Given the description of an element on the screen output the (x, y) to click on. 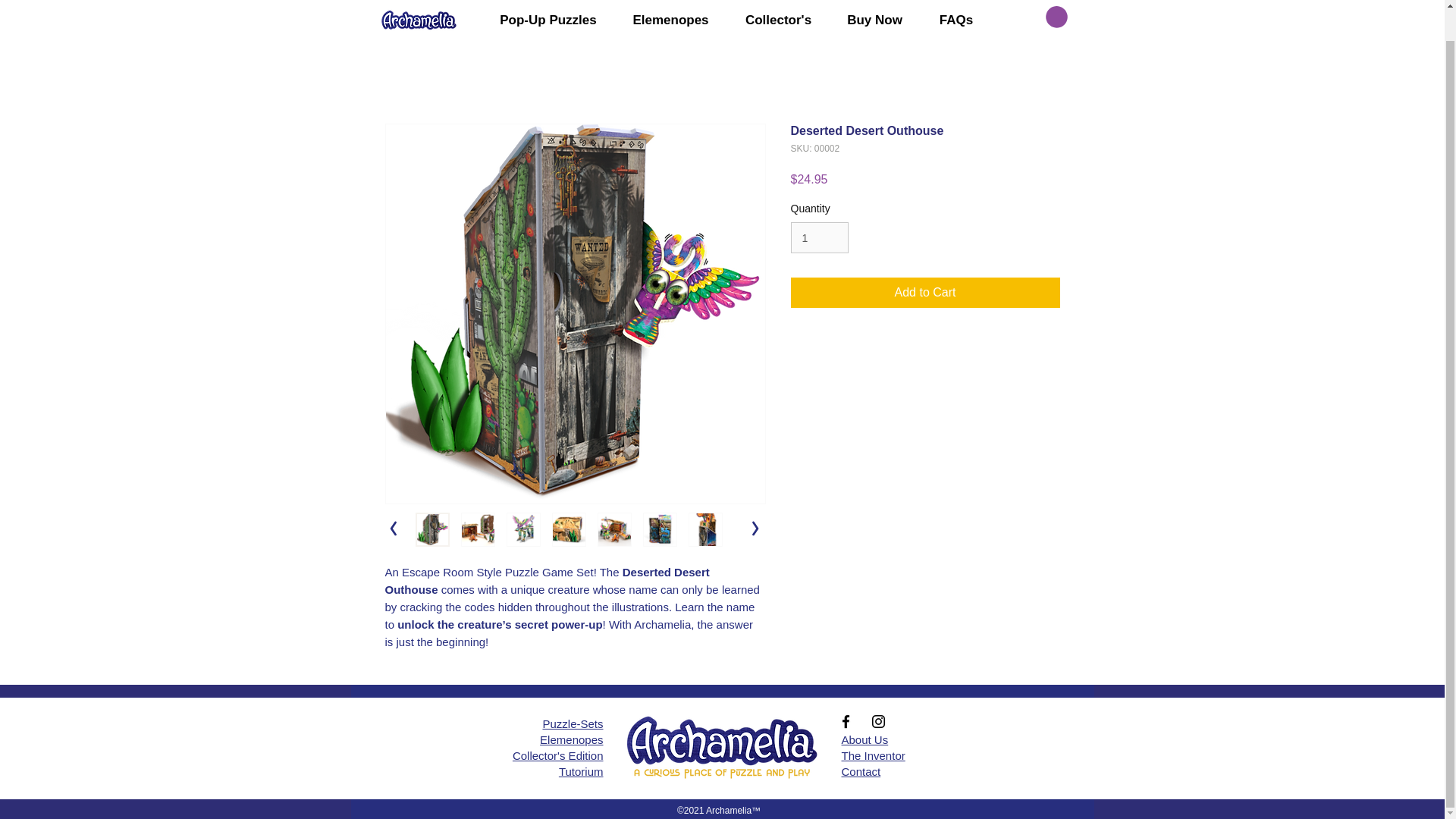
Puzzle-Sets (571, 723)
Collector's Edition (558, 755)
Tutorium (581, 771)
1 (818, 237)
About Us (864, 739)
Elemenopes (571, 739)
The Inventor (873, 755)
Add to Cart (924, 292)
Contact (860, 771)
